Given the description of an element on the screen output the (x, y) to click on. 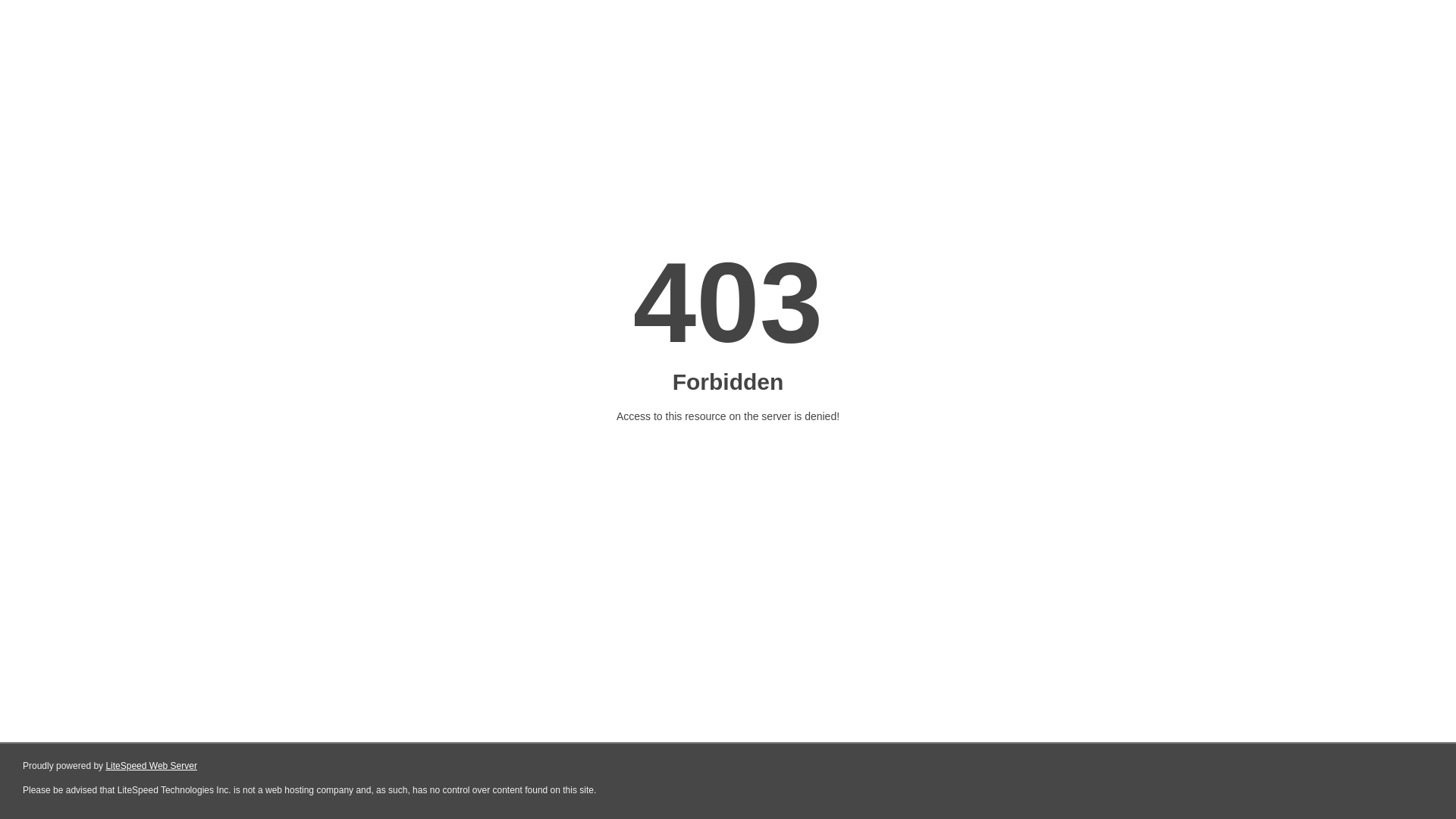
LiteSpeed Web Server Element type: text (151, 765)
